Given the description of an element on the screen output the (x, y) to click on. 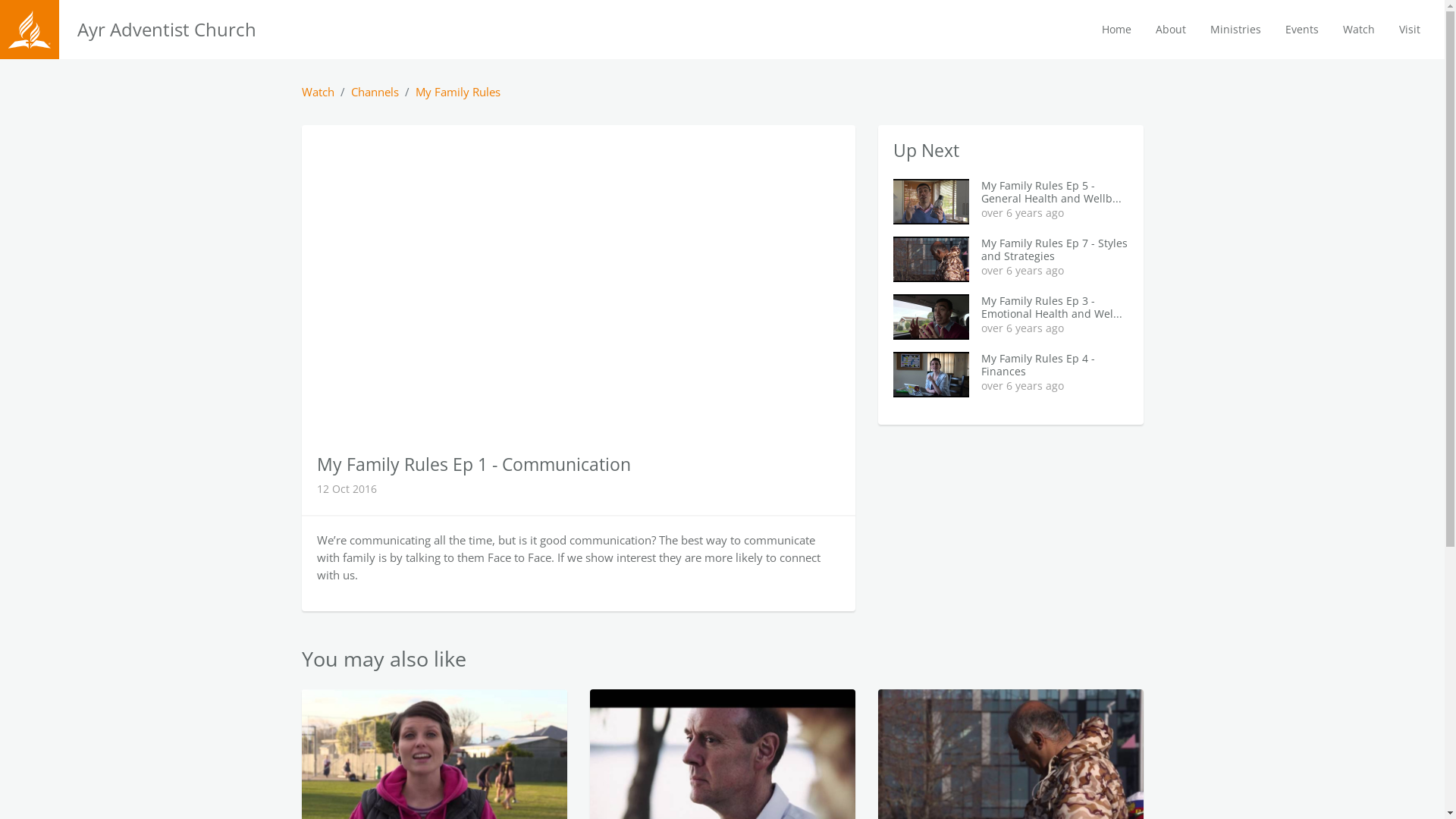
My Family Rules Ep 4 - Finances
over 6 years ago Element type: text (1010, 374)
Watch Element type: text (1358, 29)
Channels Element type: text (374, 91)
Watch Element type: text (317, 91)
Events Element type: text (1301, 29)
Visit Element type: text (1409, 29)
My Family Rules Element type: text (457, 91)
Ministries Element type: text (1235, 29)
Seventh-day Adventist Church Logo
Ayr Adventist Church Element type: text (170, 29)
About Element type: text (1170, 29)
Home Element type: text (1116, 29)
